Given the description of an element on the screen output the (x, y) to click on. 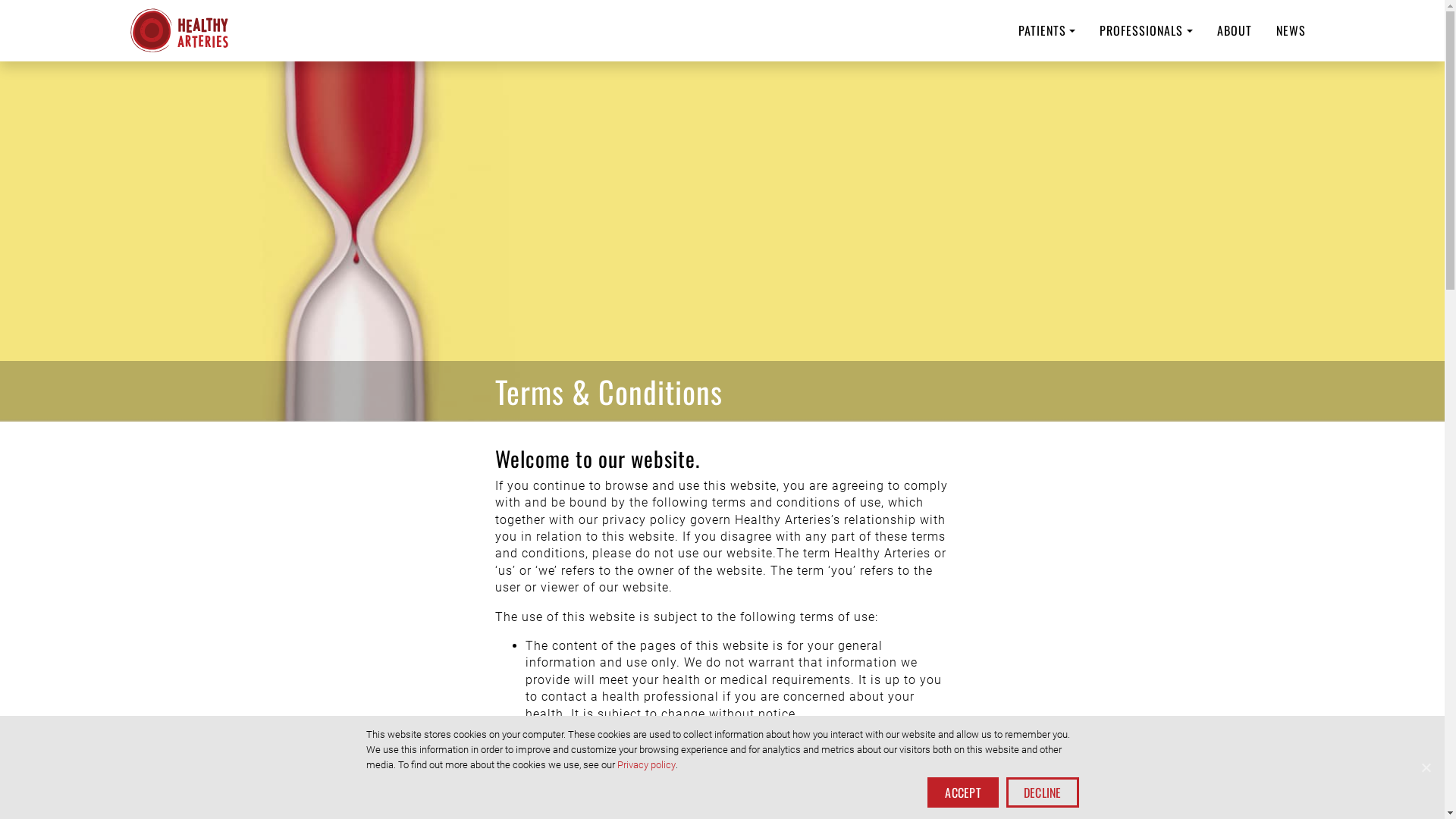
ACCEPT Element type: text (962, 792)
ABOUT Element type: text (1233, 29)
PATIENTS Element type: text (1046, 29)
PROFESSIONALS Element type: text (1145, 29)
Privacy policy Element type: text (646, 764)
DECLINE Element type: text (1042, 792)
NEWS Element type: text (1290, 29)
HealthyArteries.com.au Element type: hover (179, 30)
